Given the description of an element on the screen output the (x, y) to click on. 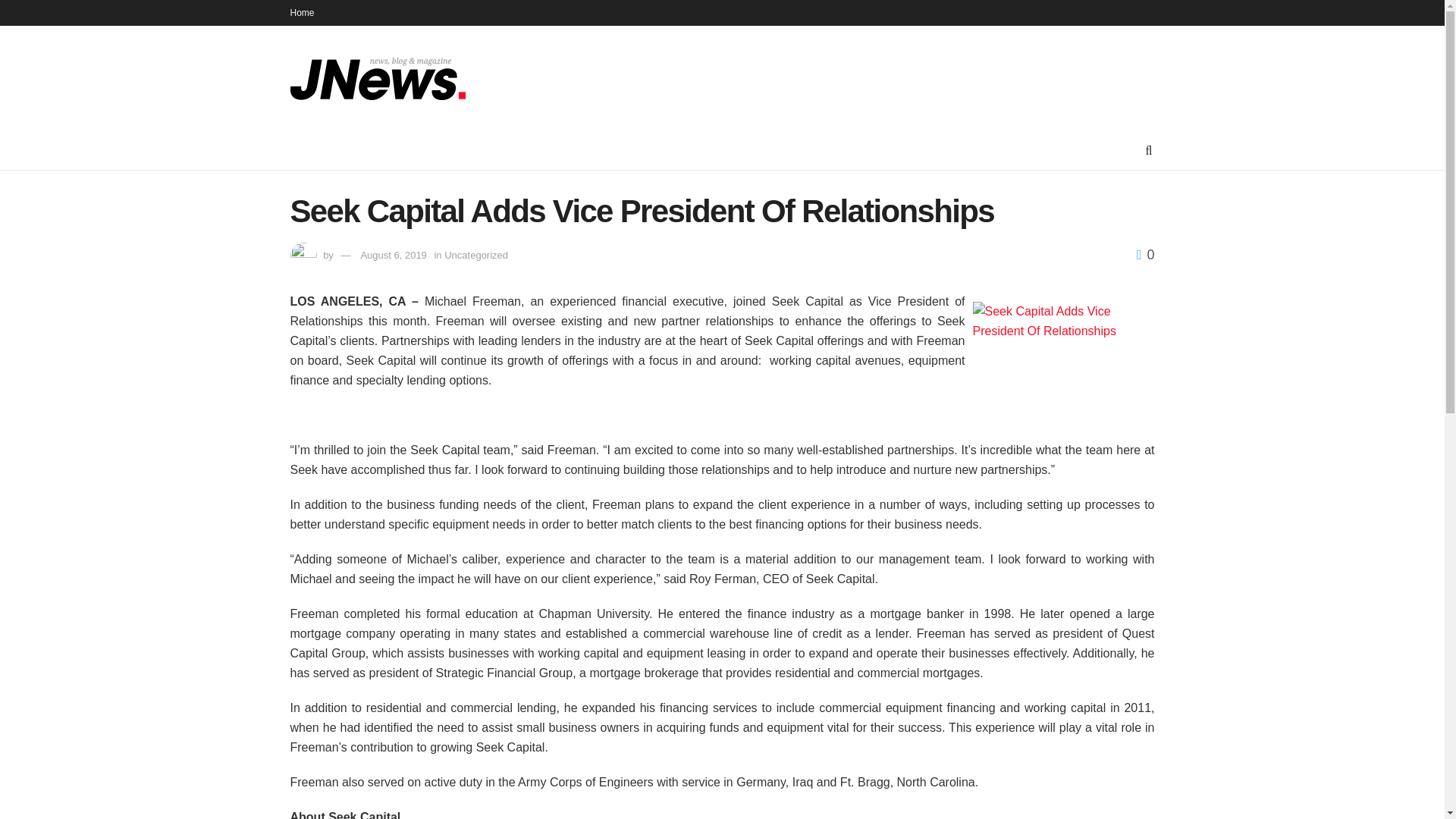
Home (301, 12)
Seek Capital Adds Vice President Of Relationships (1051, 321)
0 (1145, 254)
August 6, 2019 (392, 255)
